Given the description of an element on the screen output the (x, y) to click on. 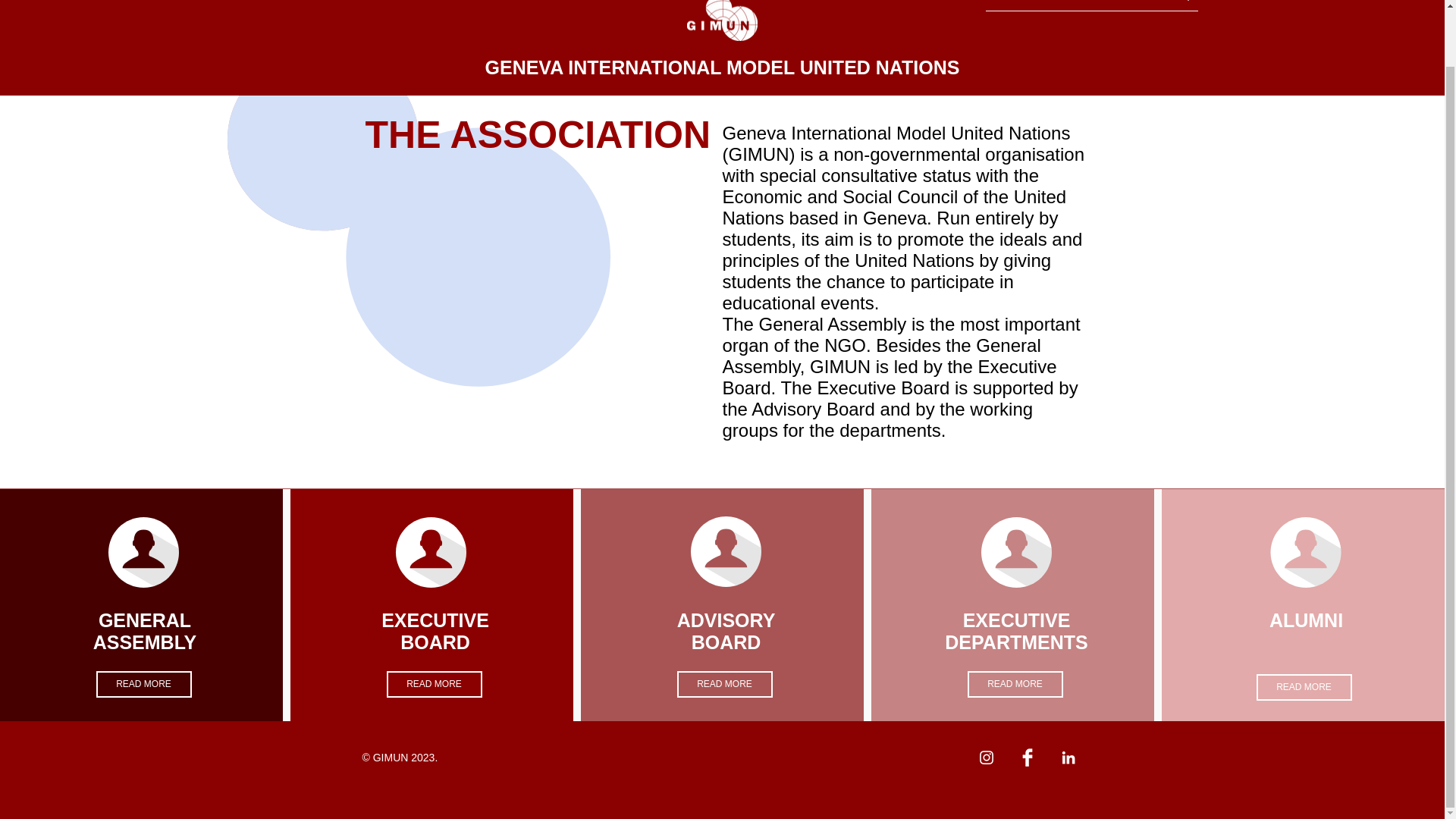
READ MORE (1303, 687)
READ MORE (1015, 683)
READ MORE (434, 683)
READ MORE (724, 683)
READ MORE (143, 683)
